Given the description of an element on the screen output the (x, y) to click on. 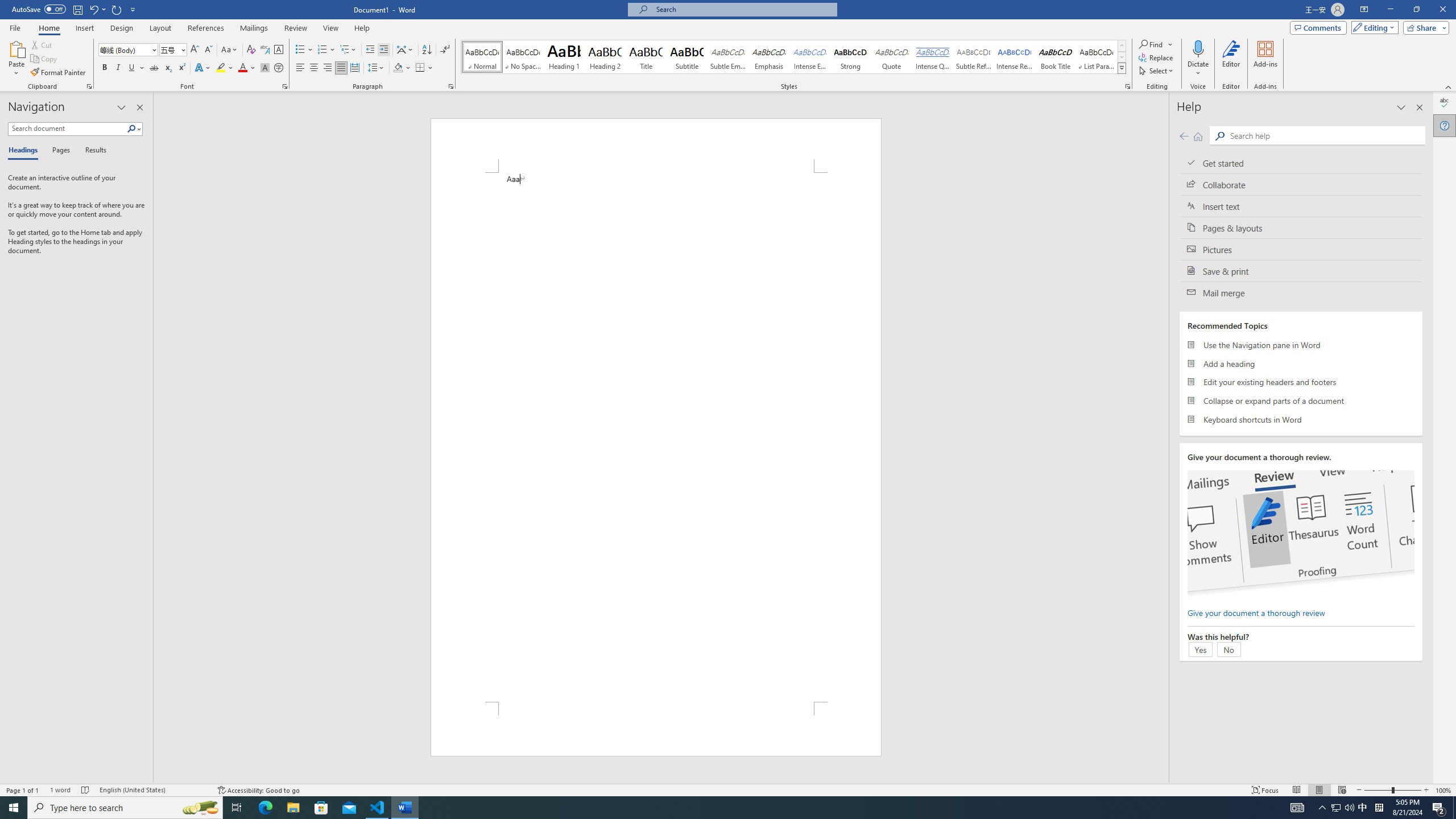
Yes (1200, 649)
Repeat Increase Indent (117, 9)
editor ui screenshot (1300, 533)
Previous page (1183, 136)
Collapse or expand parts of a document (1300, 400)
